Given the description of an element on the screen output the (x, y) to click on. 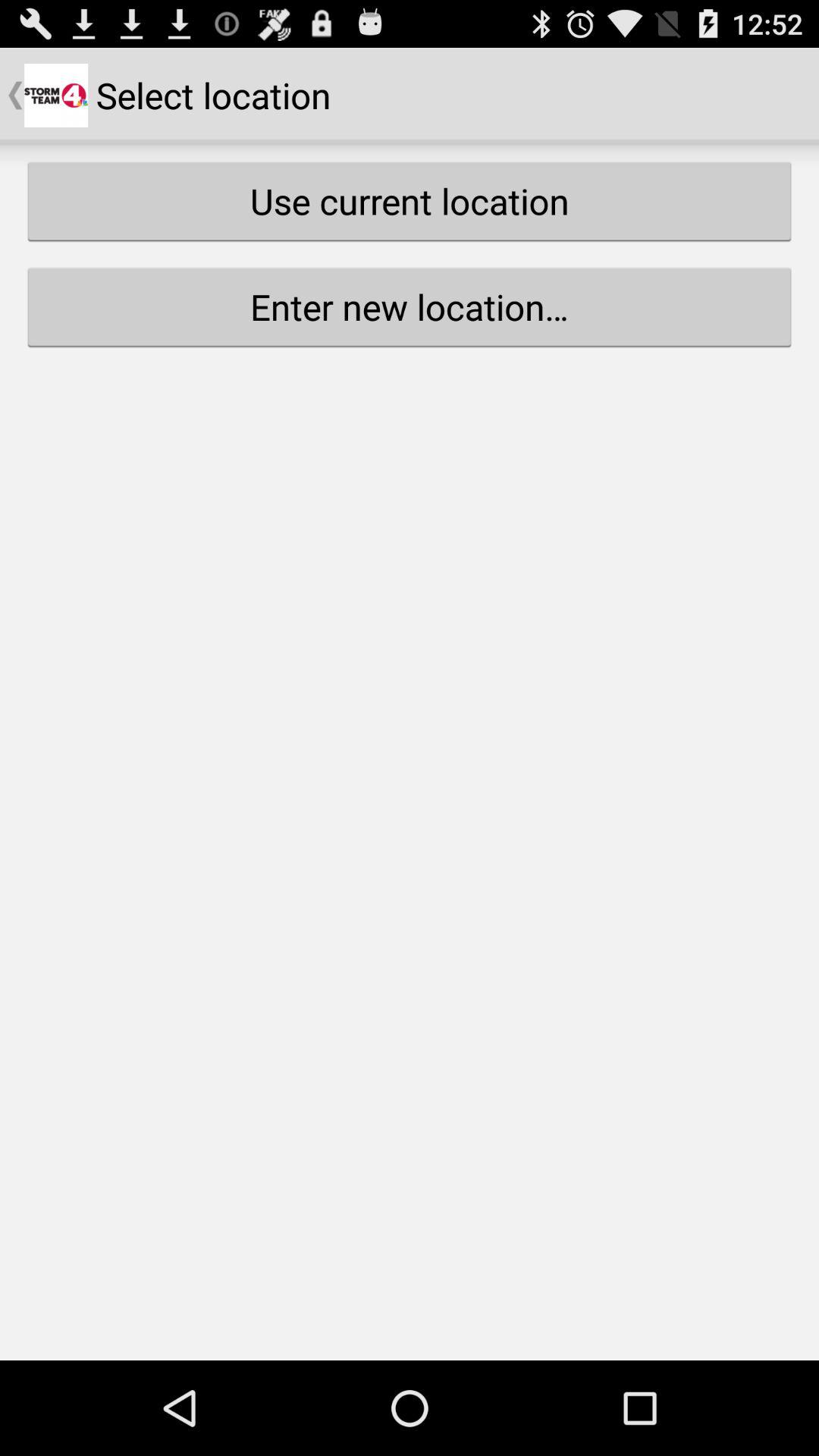
turn on the item below use current location (409, 306)
